Given the description of an element on the screen output the (x, y) to click on. 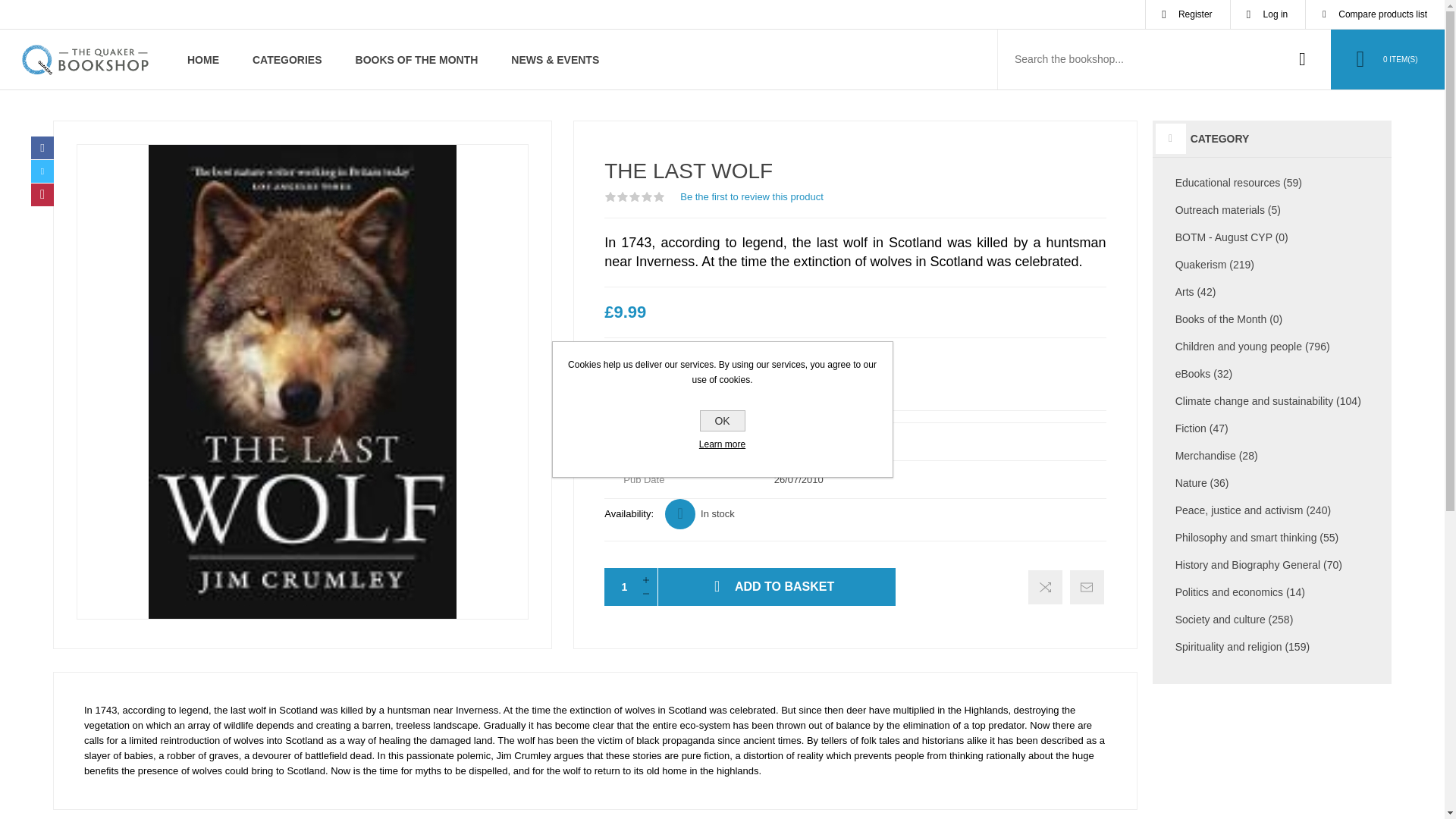
Log in (1268, 14)
Home (202, 59)
Register (1187, 14)
HOME (202, 59)
